Given the description of an element on the screen output the (x, y) to click on. 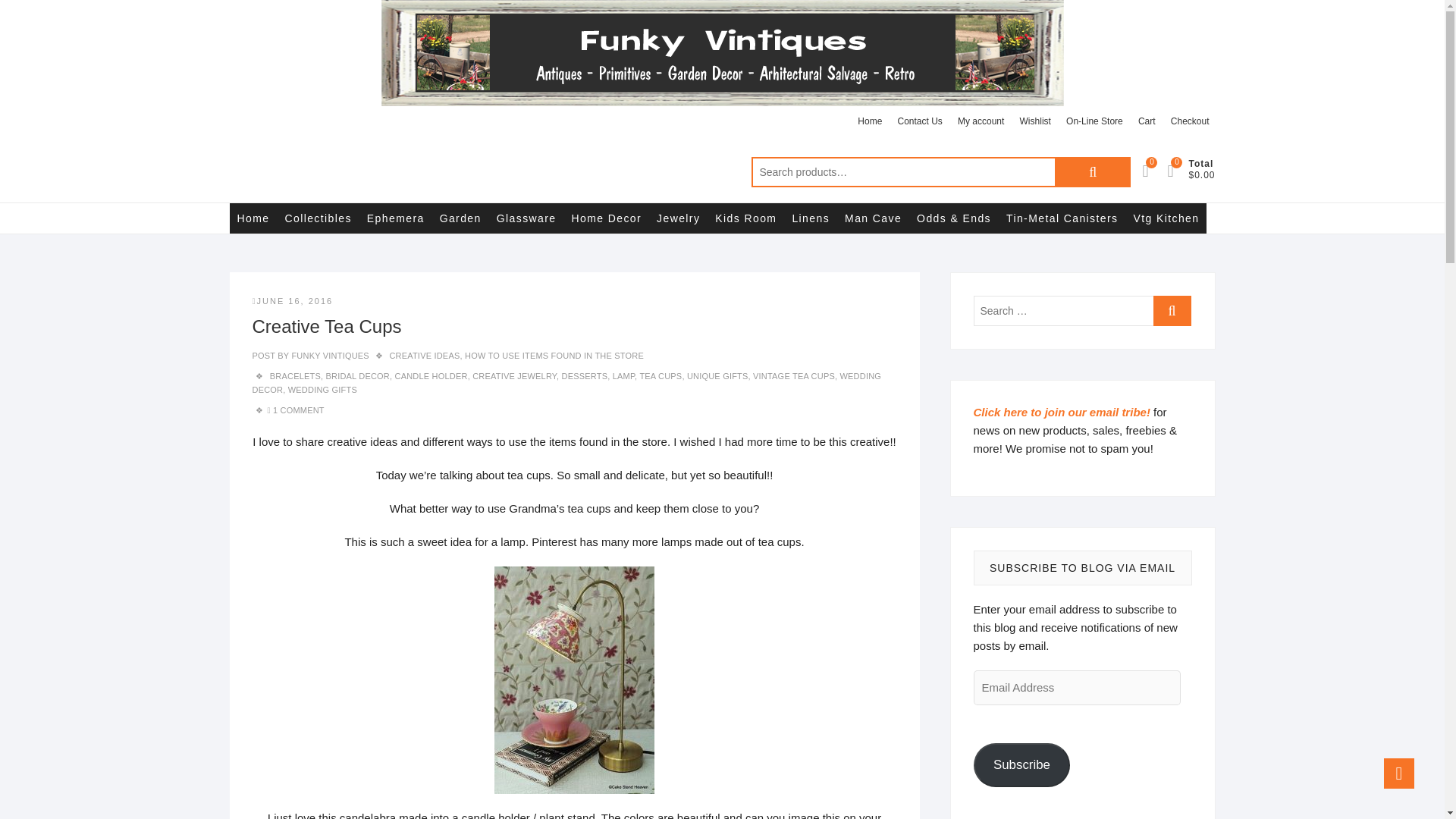
Search (1092, 172)
My account (981, 120)
Tin-Metal Canisters (1061, 218)
Home (252, 218)
Linens (810, 218)
Ephemera (395, 218)
Contact Us (919, 120)
Man Cave (872, 218)
Collectibles (317, 218)
On-Line Store (1094, 120)
Home Decor (606, 218)
Cart (1146, 120)
Wishlist (1035, 120)
6:05 pm (292, 300)
Vtg Kitchen (1166, 218)
